Given the description of an element on the screen output the (x, y) to click on. 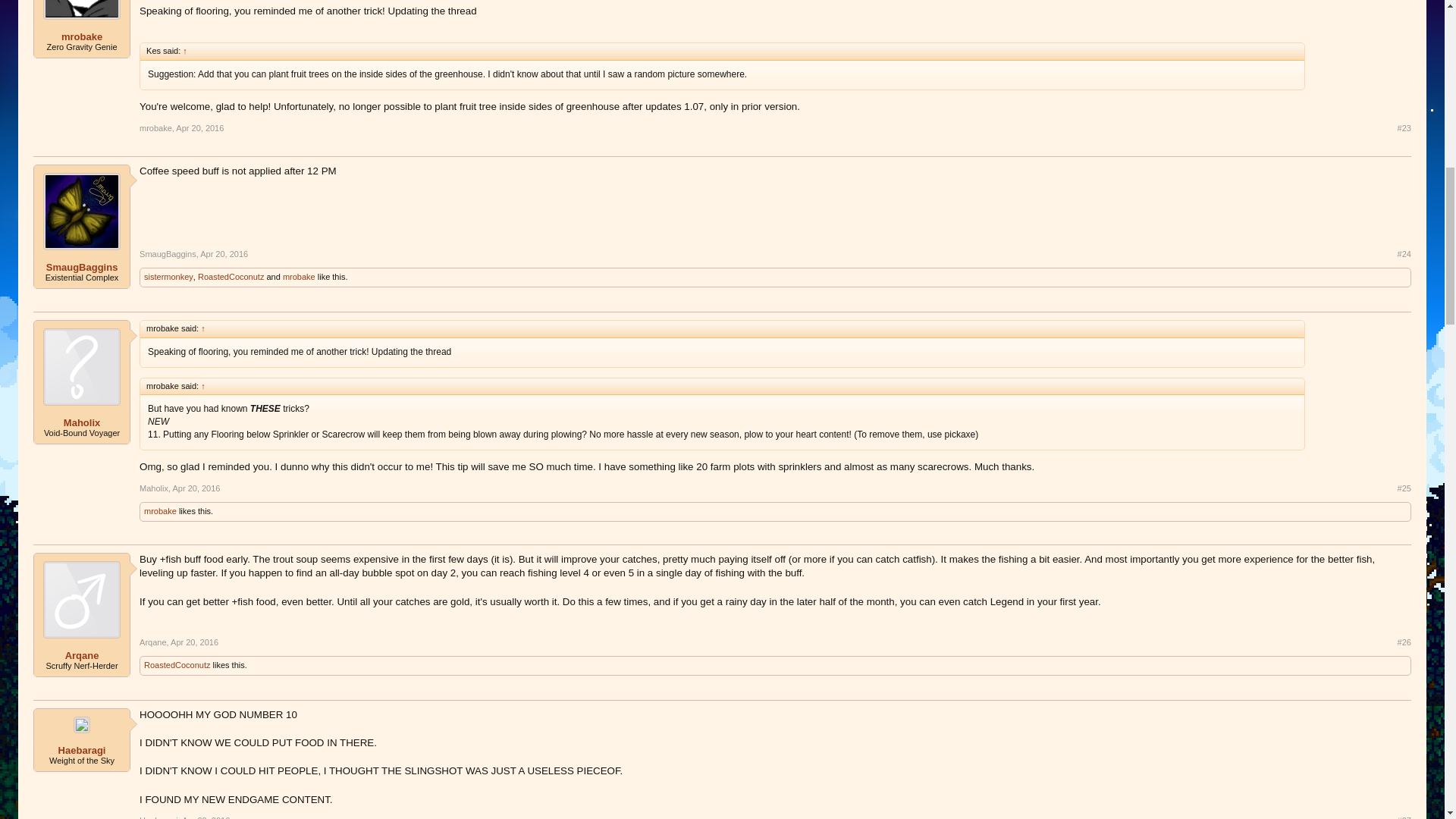
Permalink (200, 126)
Permalink (195, 488)
mrobake (155, 126)
Apr 20, 2016 (200, 126)
Permalink (1403, 254)
Permalink (194, 642)
mrobake (82, 36)
Permalink (223, 253)
Permalink (1403, 489)
Permalink (1403, 127)
